Given the description of an element on the screen output the (x, y) to click on. 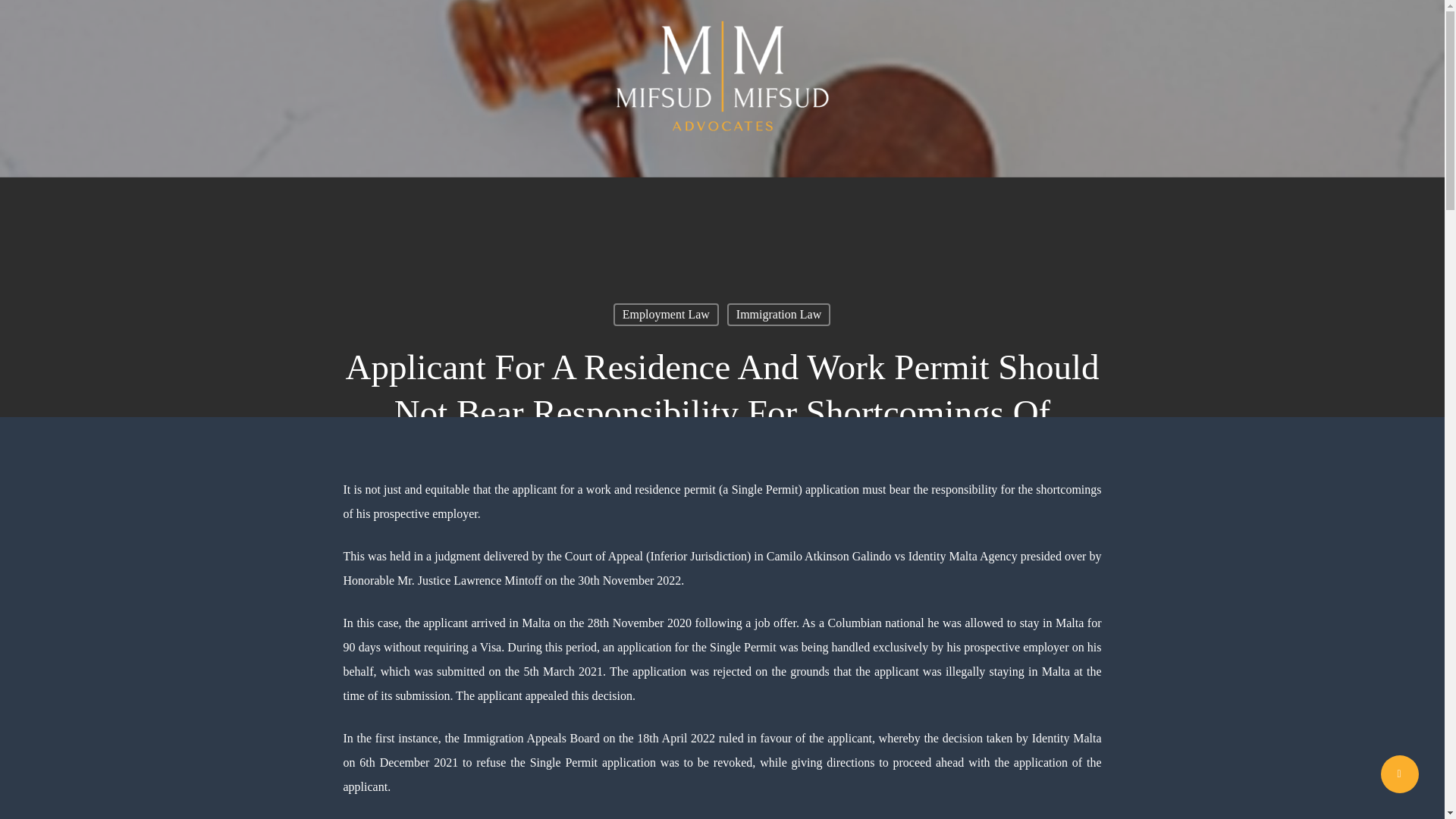
Employment Law (665, 314)
